Given the description of an element on the screen output the (x, y) to click on. 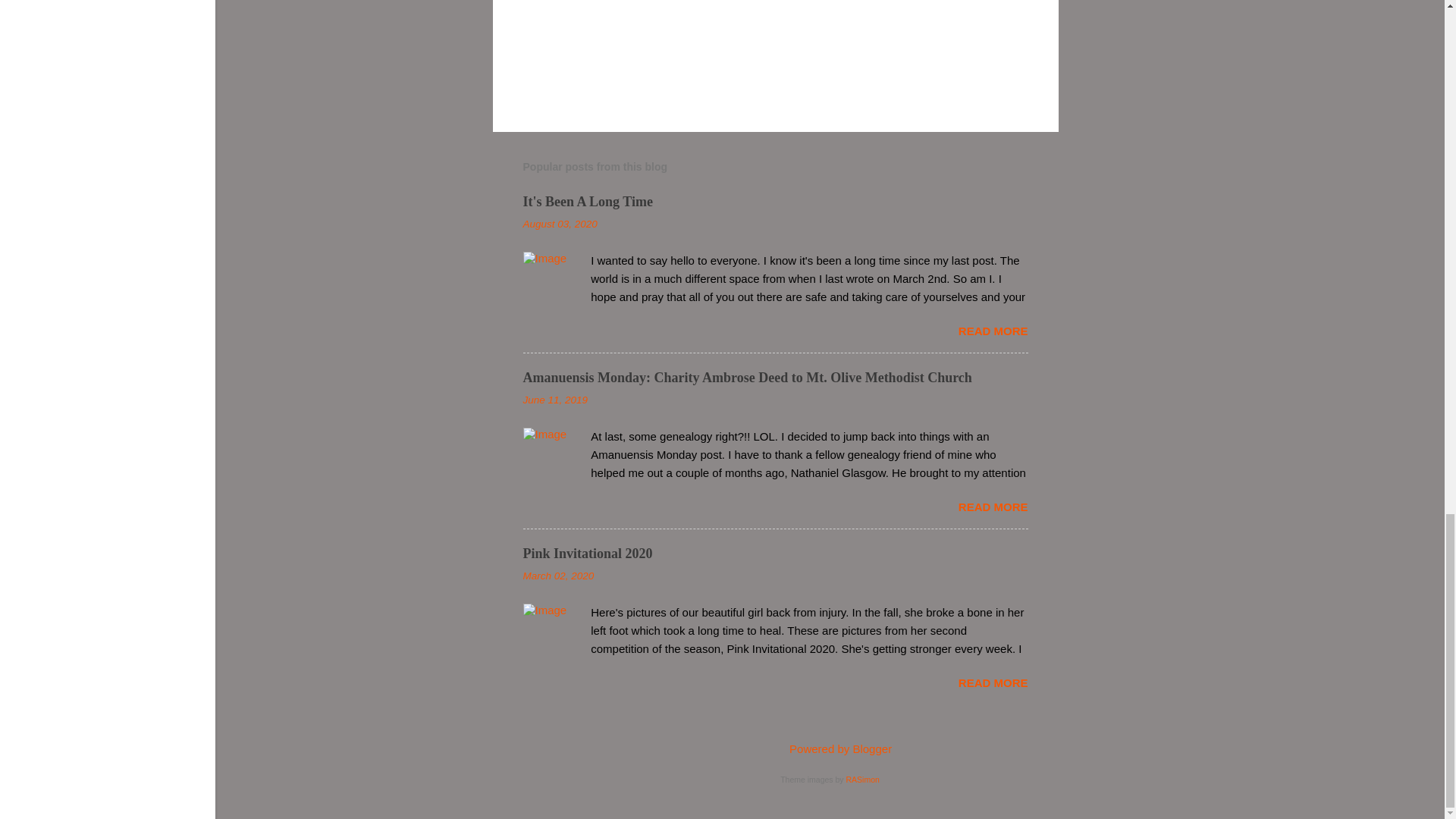
Pink Invitational 2020 (587, 553)
August 03, 2020 (559, 224)
READ MORE (992, 330)
It's Been A Long Time (587, 201)
June 11, 2019 (555, 399)
READ MORE (992, 506)
